Given the description of an element on the screen output the (x, y) to click on. 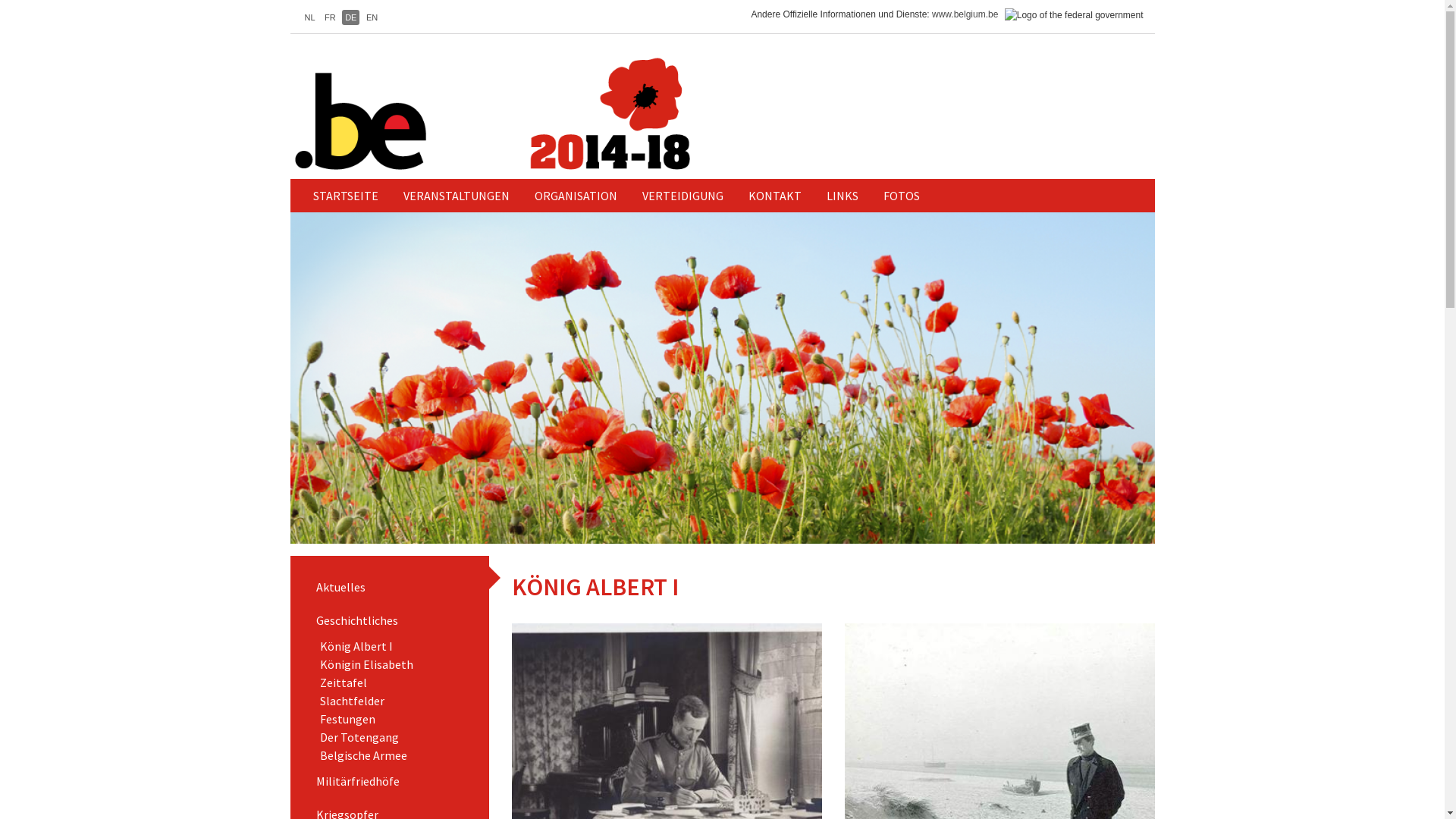
NL Element type: text (309, 17)
STARTSEITE Element type: text (345, 195)
EN Element type: text (371, 17)
Home Element type: hover (550, 113)
ORGANISATION Element type: text (575, 195)
FR Element type: text (329, 17)
DE Element type: text (350, 17)
Festungen Element type: text (347, 718)
Geschichtliches Element type: text (389, 620)
Aktuelles Element type: text (389, 586)
Skip to main content Element type: text (0, 0)
Zeittafel Element type: text (343, 682)
VERTEIDIGUNG Element type: text (682, 195)
www.belgium.be Element type: text (964, 14)
Der Totengang Element type: text (359, 736)
VERANSTALTUNGEN Element type: text (455, 195)
KONTAKT Element type: text (774, 195)
Slachtfelder Element type: text (352, 700)
FOTOS Element type: text (901, 195)
Belgische Armee Element type: text (363, 754)
Red poppies Element type: hover (721, 377)
LINKS Element type: text (841, 195)
